Given the description of an element on the screen output the (x, y) to click on. 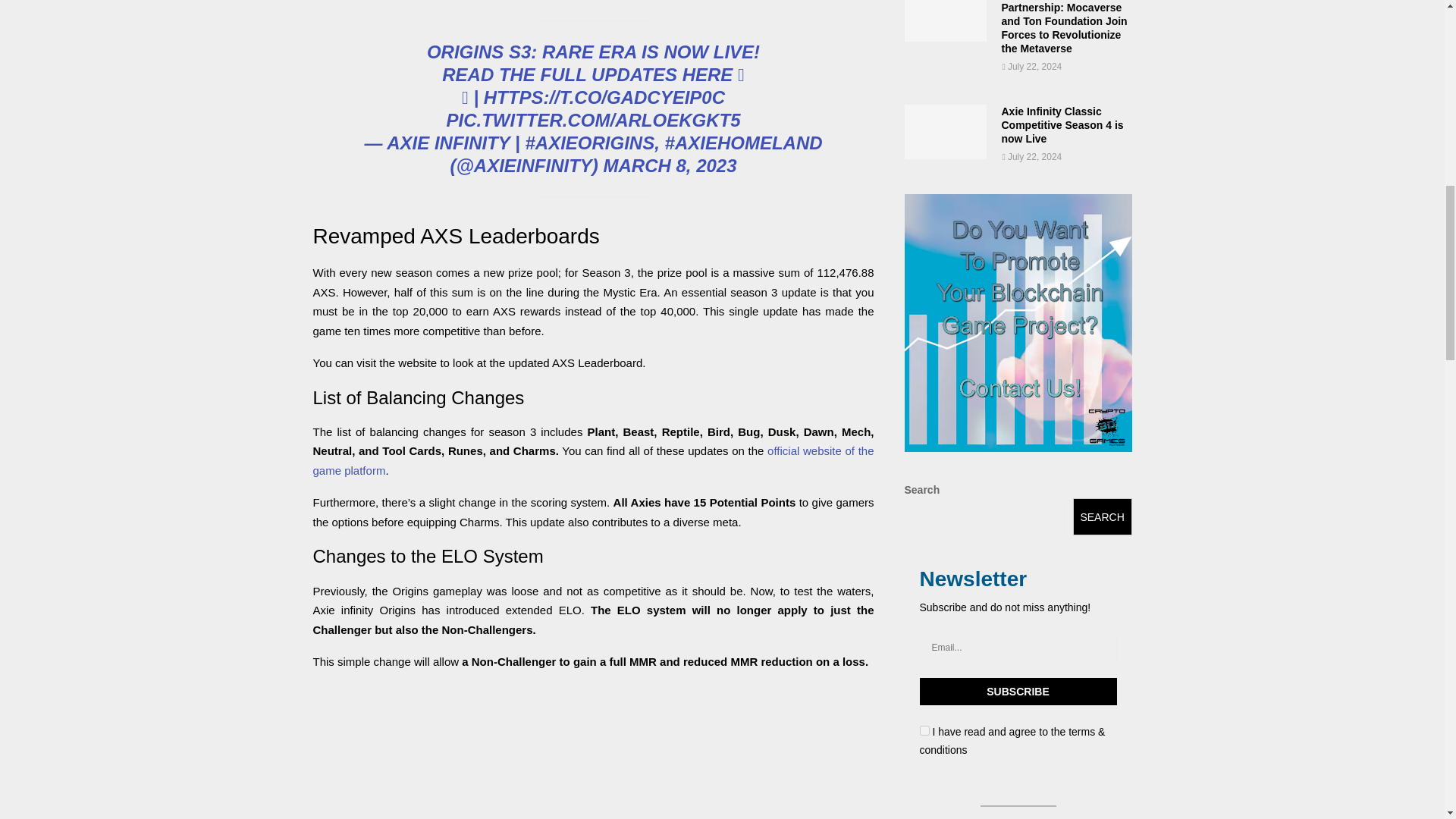
1 (923, 730)
Subscribe (1017, 691)
